Given the description of an element on the screen output the (x, y) to click on. 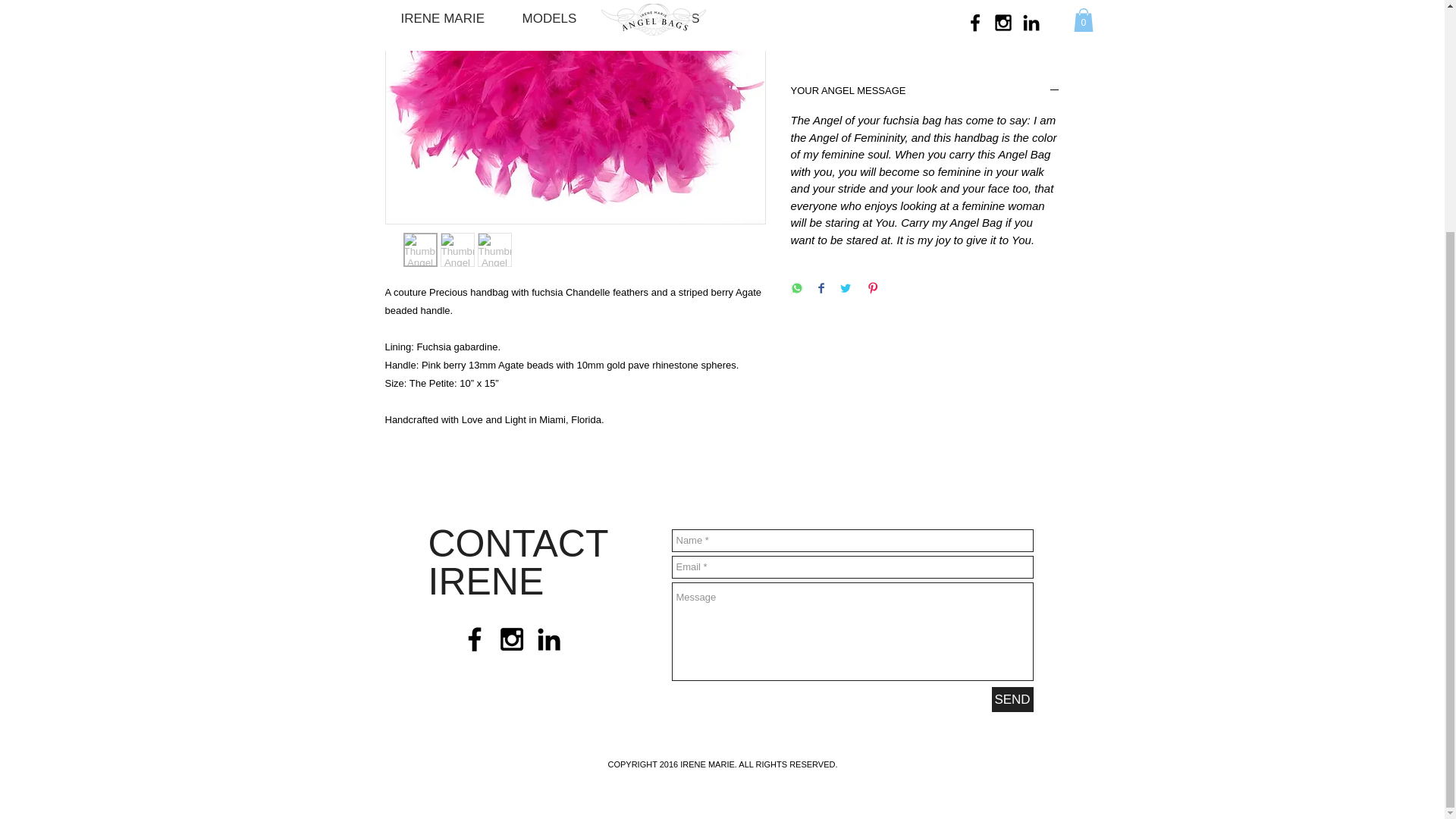
SEND (1012, 699)
YOUR ANGEL MESSAGE (924, 91)
Add to Cart (924, 32)
